Given the description of an element on the screen output the (x, y) to click on. 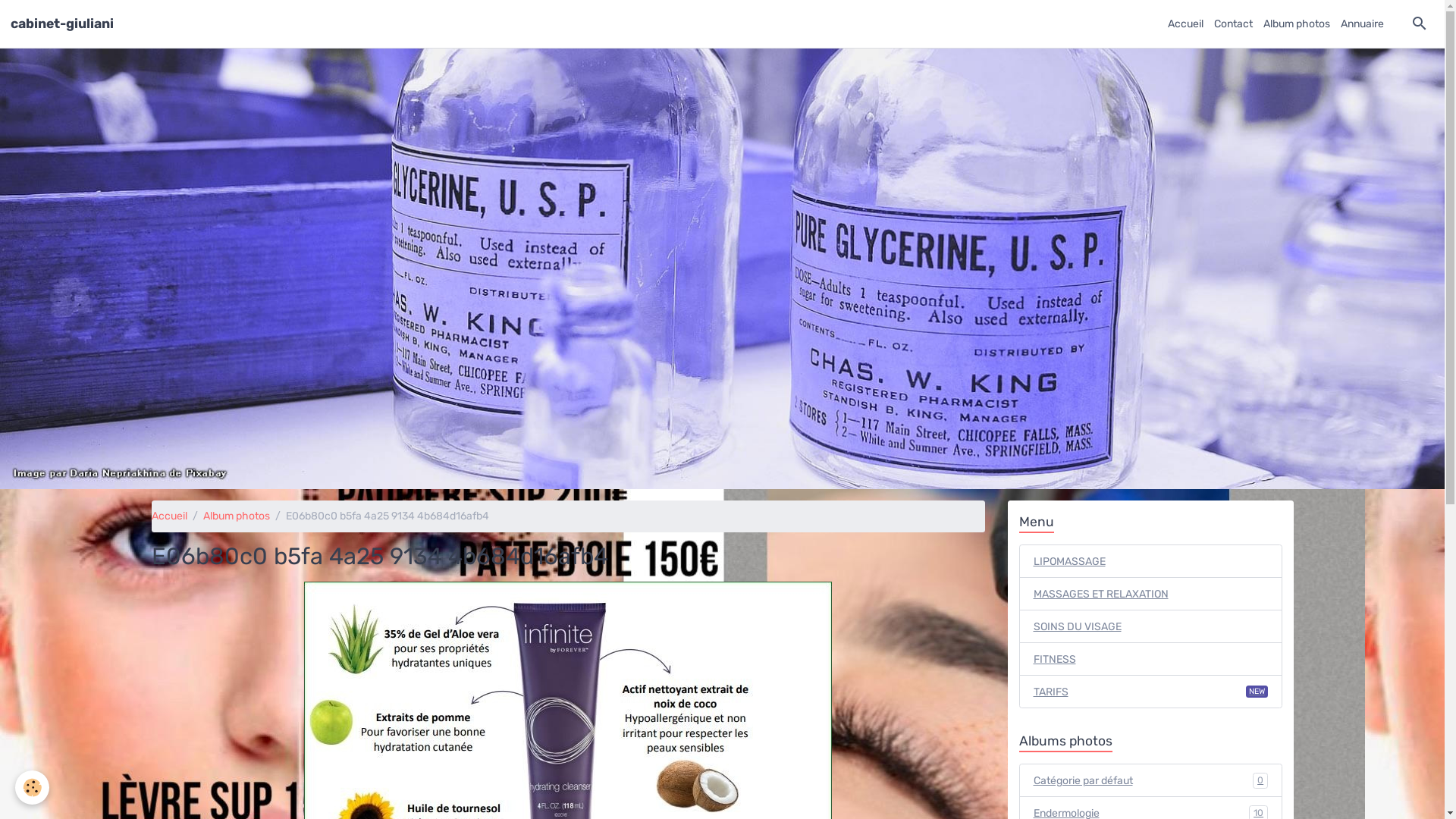
FITNESS Element type: text (1150, 658)
MASSAGES ET RELAXATION Element type: text (1150, 593)
TARIFS
NEW Element type: text (1150, 691)
Contact Element type: text (1233, 23)
LIPOMASSAGE Element type: text (1150, 560)
cabinet-giuliani Element type: text (61, 23)
Album photos Element type: text (236, 515)
Annuaire Element type: text (1362, 23)
Accueil Element type: text (1185, 23)
Accueil Element type: text (169, 515)
Album photos Element type: text (1296, 23)
SOINS DU VISAGE Element type: text (1150, 626)
